Given the description of an element on the screen output the (x, y) to click on. 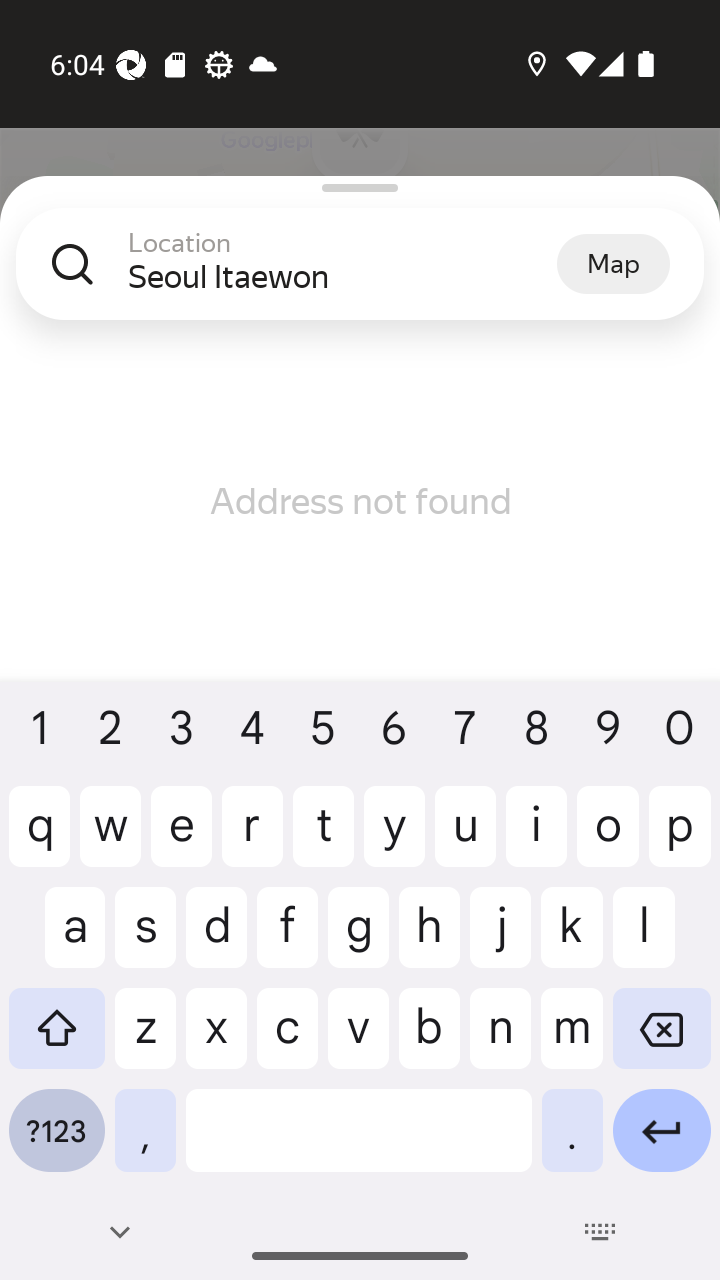
Location Seoul Itaewon Map (360, 280)
Map (613, 263)
Seoul Itaewon (341, 276)
